Given the description of an element on the screen output the (x, y) to click on. 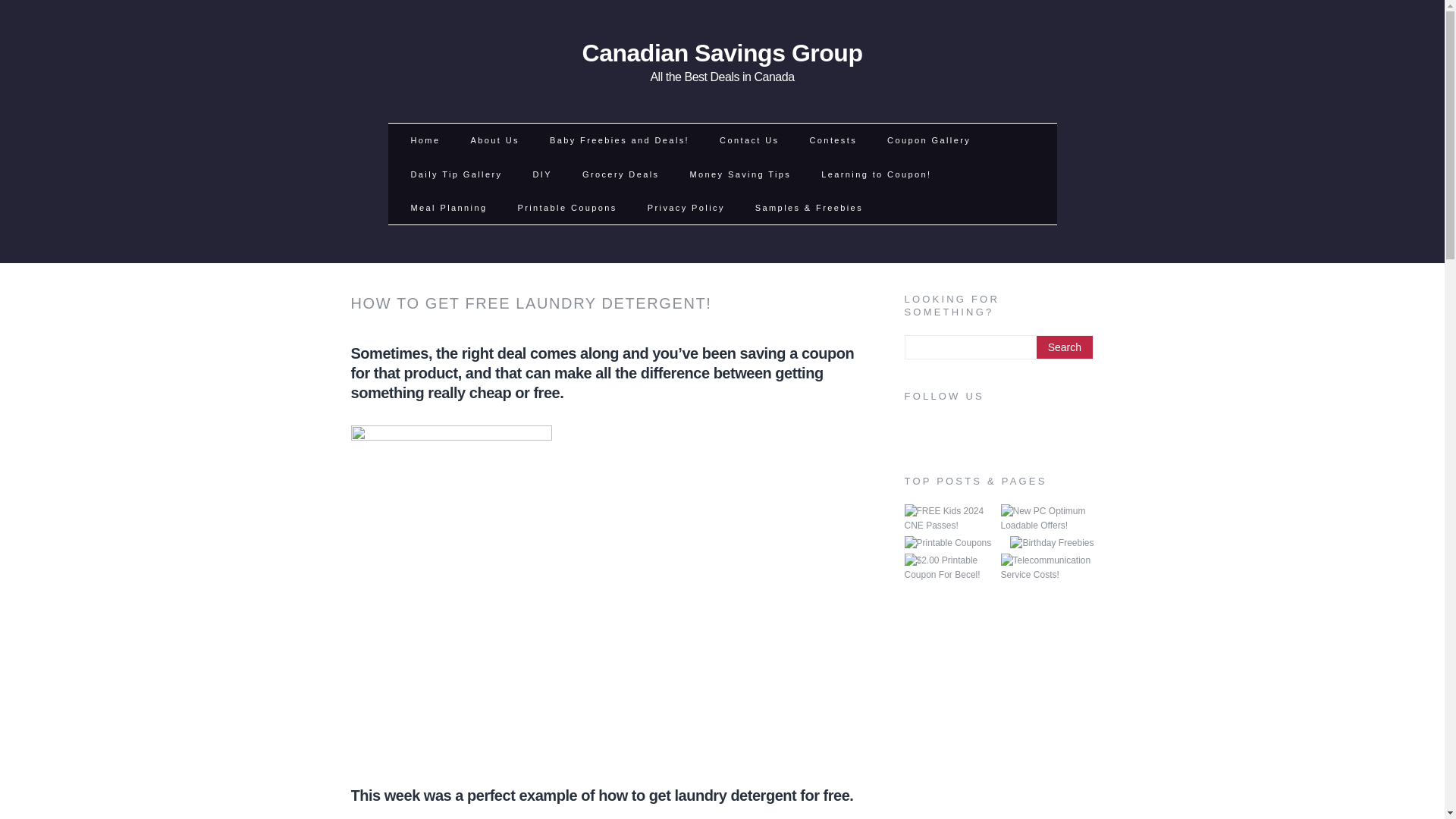
Printable Coupons (947, 543)
Contact Us (748, 140)
Home (721, 61)
Birthday Freebies (425, 140)
New PC Optimum Loadable Offers! (1051, 543)
Telecommunication Service Costs! (1047, 518)
Money Saving Tips (1047, 567)
Contests (739, 174)
Grocery Deals (833, 140)
